Given the description of an element on the screen output the (x, y) to click on. 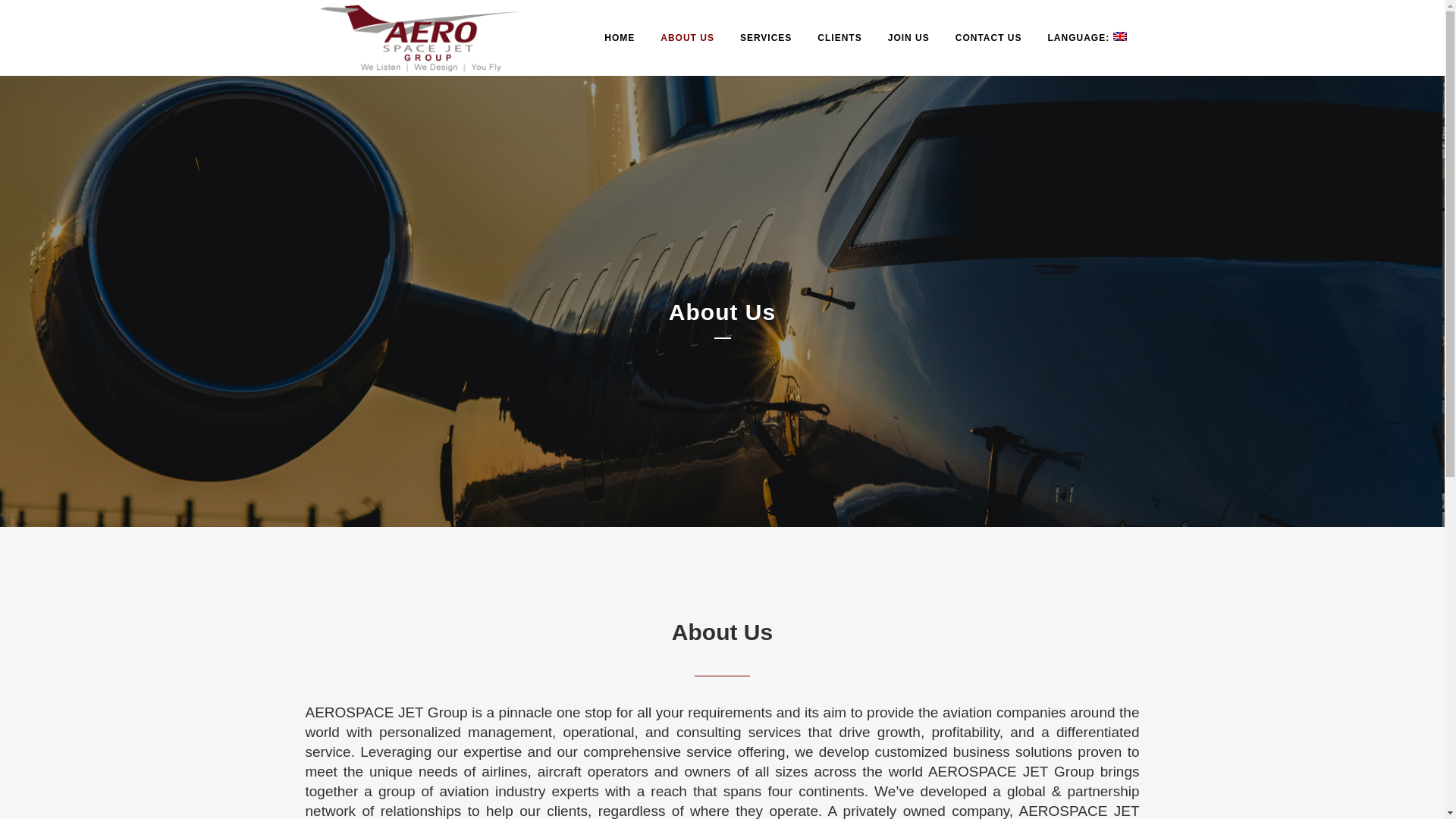
CONTACT US (988, 38)
JOIN US (908, 38)
SERVICES (765, 38)
LANGUAGE:  (1085, 38)
CLIENTS (840, 38)
ABOUT US (686, 38)
English (1085, 38)
